Given the description of an element on the screen output the (x, y) to click on. 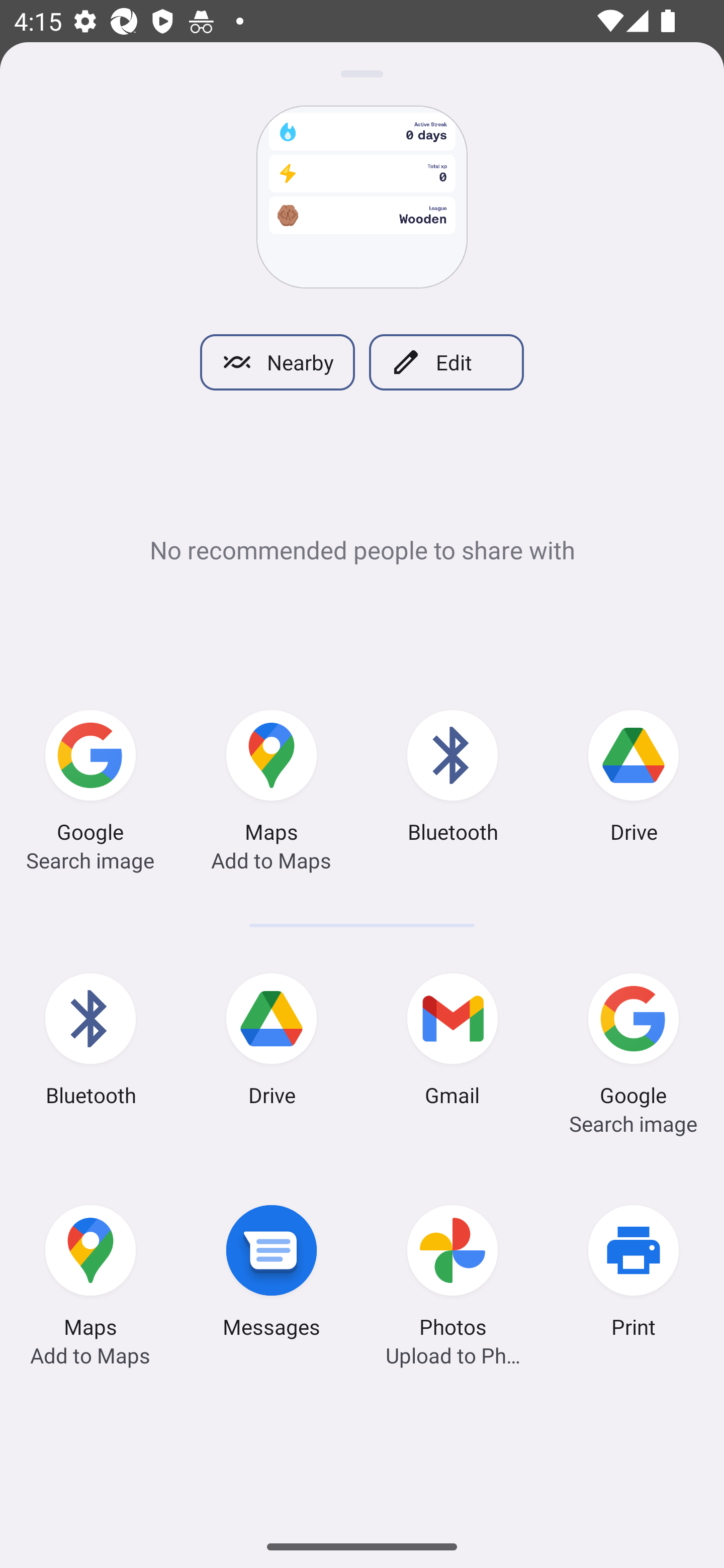
Nearby (276, 361)
Edit (446, 361)
Google Search image (90, 779)
Maps Add to Maps (271, 779)
Bluetooth (452, 779)
Drive (633, 779)
Bluetooth (90, 1042)
Drive (271, 1042)
Gmail (452, 1042)
Google Search image (633, 1042)
Maps Add to Maps (90, 1274)
Messages (271, 1274)
Photos Upload to Photos (452, 1274)
Print (633, 1274)
